Given the description of an element on the screen output the (x, y) to click on. 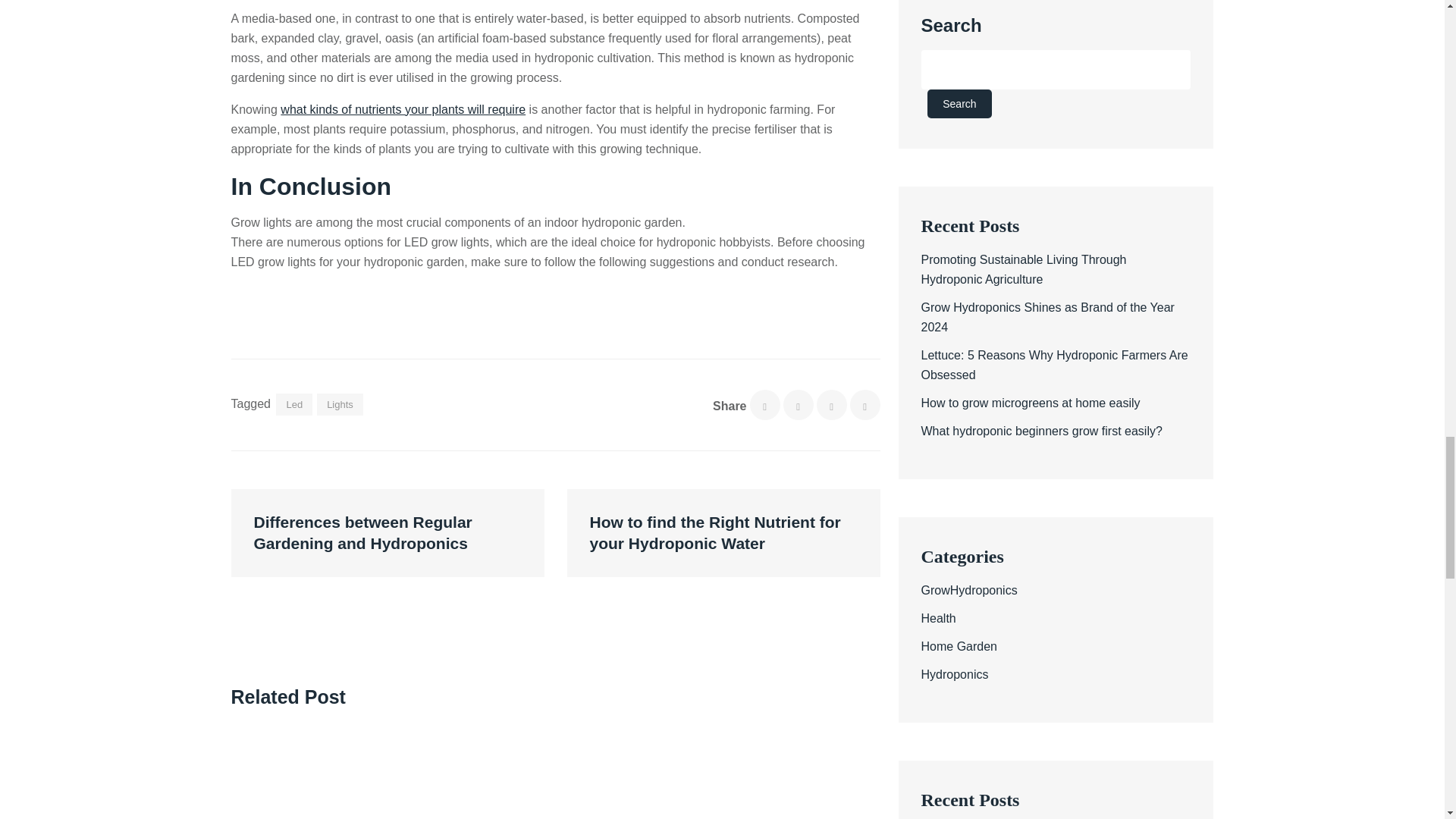
Differences between Regular Gardening and Hydroponics (386, 532)
Led (294, 404)
what kinds of nutrients your plants will require (403, 109)
How to find the Right Nutrient for your Hydroponic Water (723, 532)
Lights (339, 404)
